Given the description of an element on the screen output the (x, y) to click on. 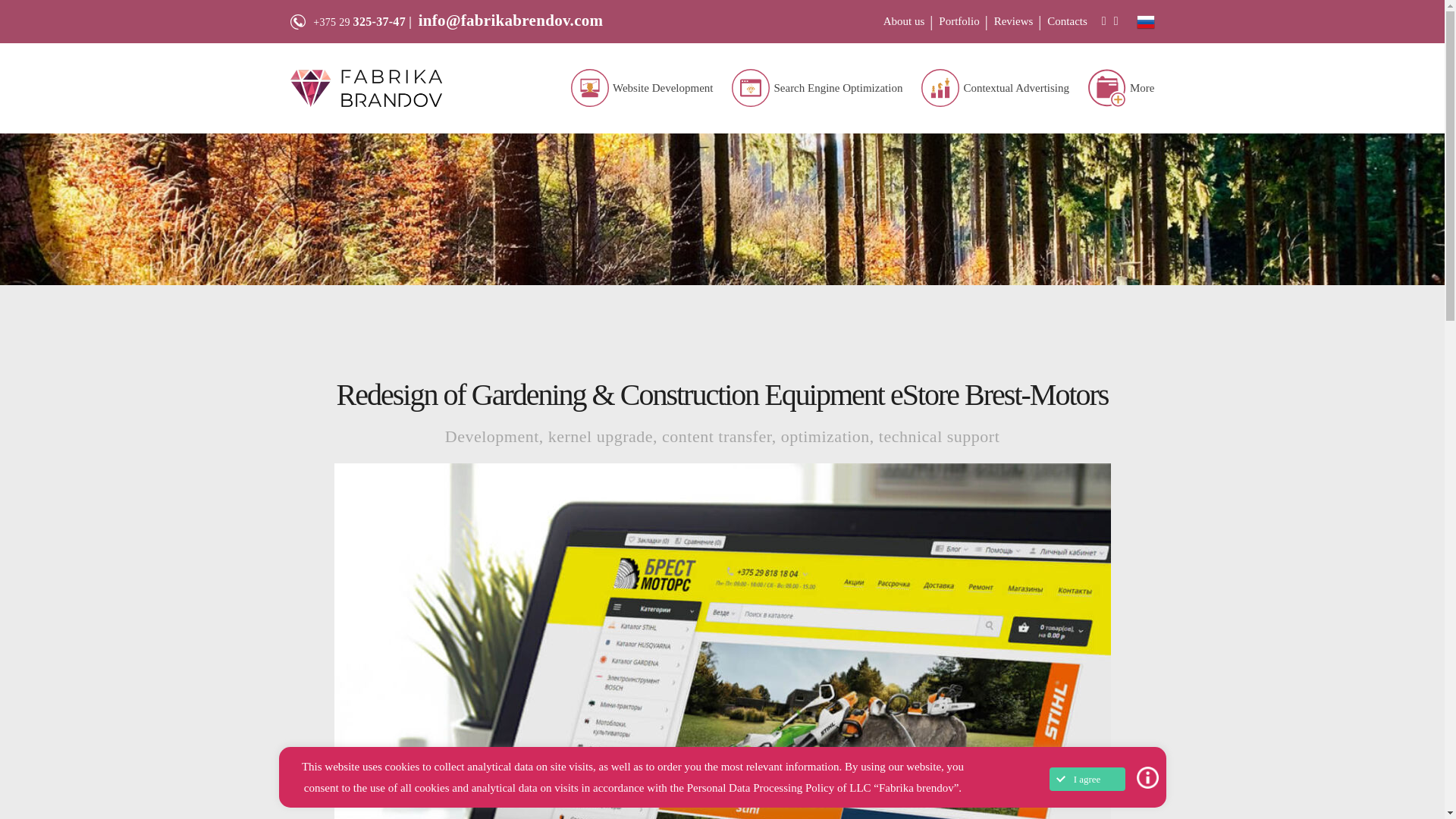
More (1141, 87)
Portfolio (958, 21)
Website Development (662, 87)
Search Engine Optimization (837, 87)
Reviews (1013, 21)
About us (903, 21)
Contacts (1066, 21)
Contextual Advertising (1015, 87)
Russian (1144, 20)
